Given the description of an element on the screen output the (x, y) to click on. 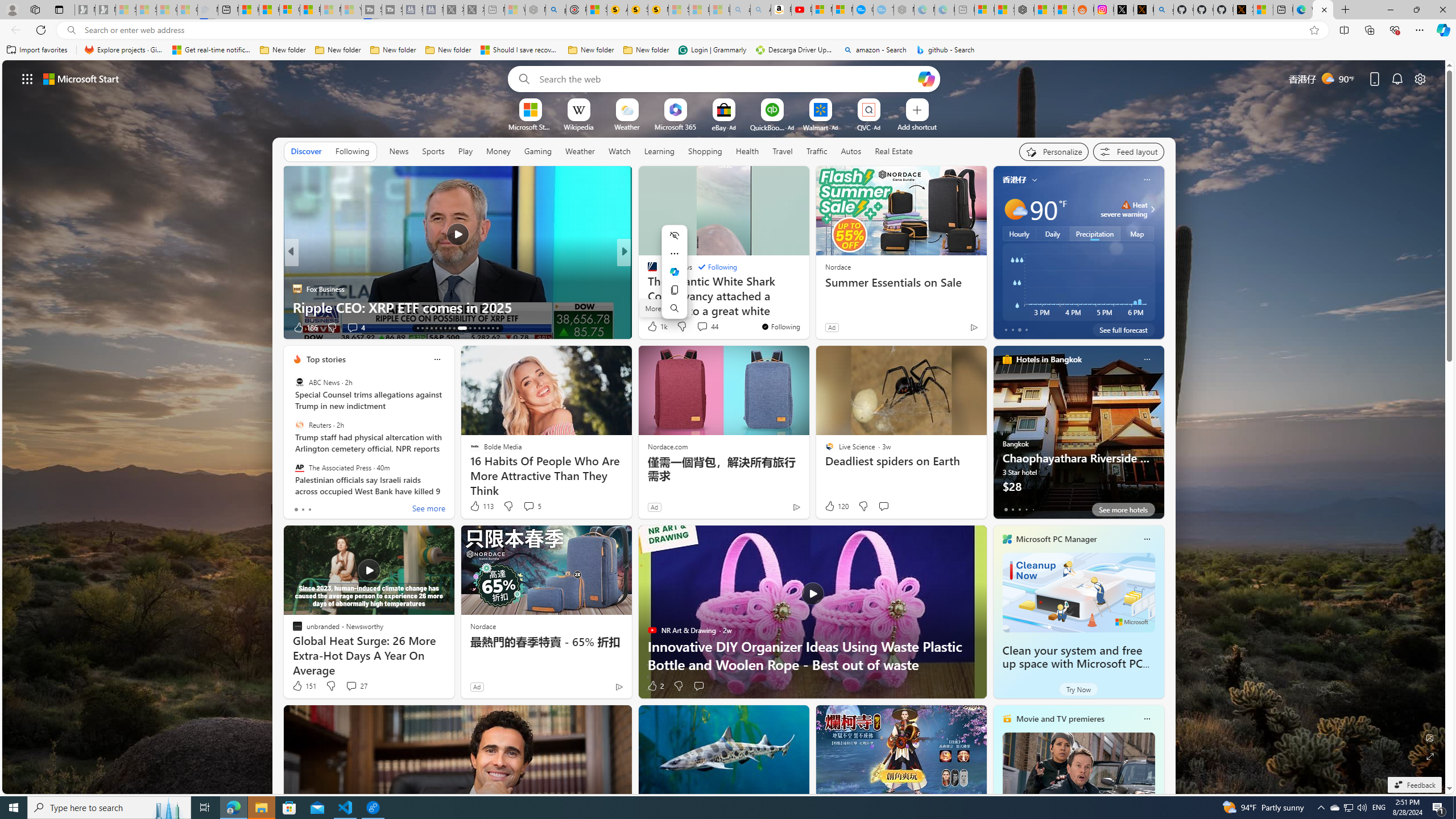
Following (352, 151)
The most popular Google 'how to' searches - Sleeping (882, 9)
Real Estate (893, 151)
tab-3 (1025, 509)
View comments 3 Comment (698, 327)
Collections (1369, 29)
Mostly sunny (1014, 208)
Opinion: Op-Ed and Commentary - USA TODAY (862, 9)
AutomationID: tab-24 (474, 328)
New tab - Sleeping (964, 9)
Hide menu (674, 235)
Ad Choice (619, 686)
Hotels in Bangkok (1048, 359)
